Given the description of an element on the screen output the (x, y) to click on. 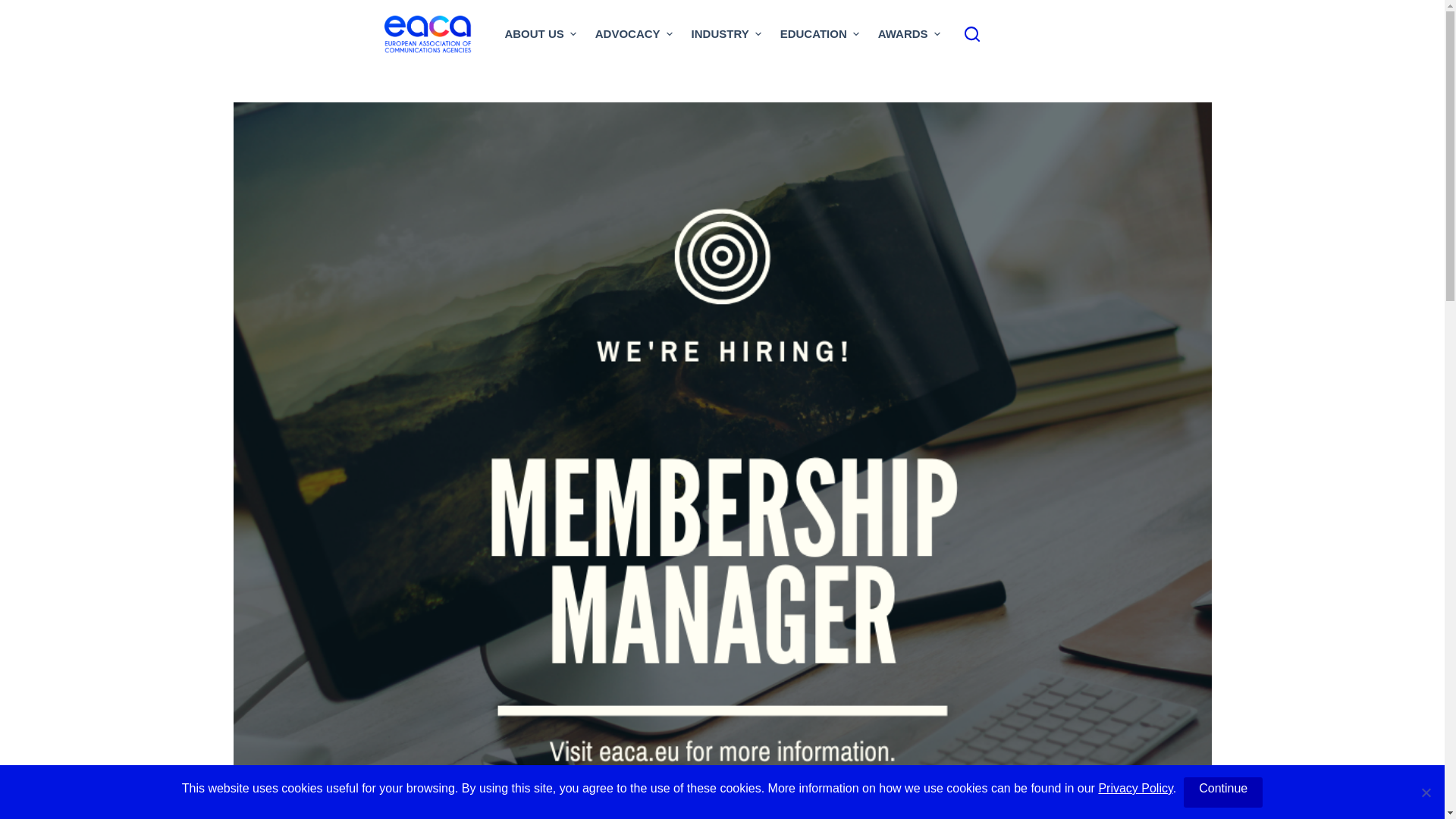
Skip to content (15, 7)
